Given the description of an element on the screen output the (x, y) to click on. 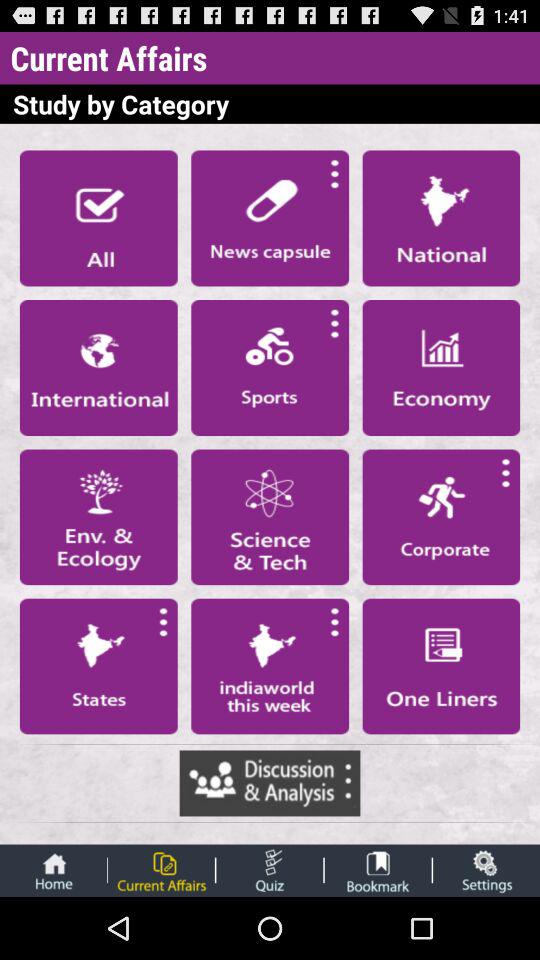
view article section (98, 367)
